Given the description of an element on the screen output the (x, y) to click on. 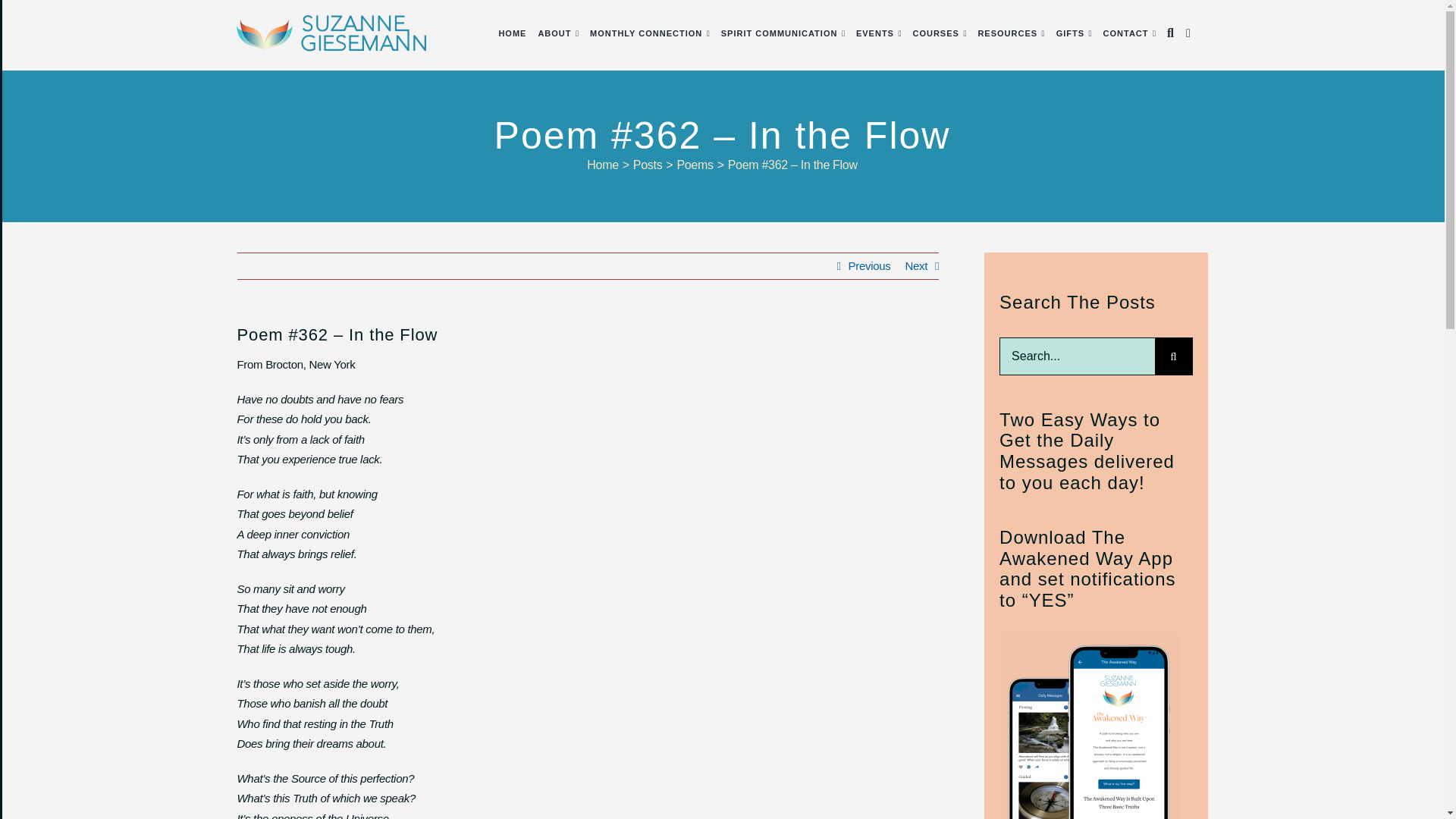
COURSES (935, 33)
sgsvg (330, 33)
ABOUT (553, 33)
SPIRIT COMMUNICATION (779, 33)
MONTHLY CONNECTION (645, 33)
HOME (511, 33)
EVENTS (874, 33)
